Given the description of an element on the screen output the (x, y) to click on. 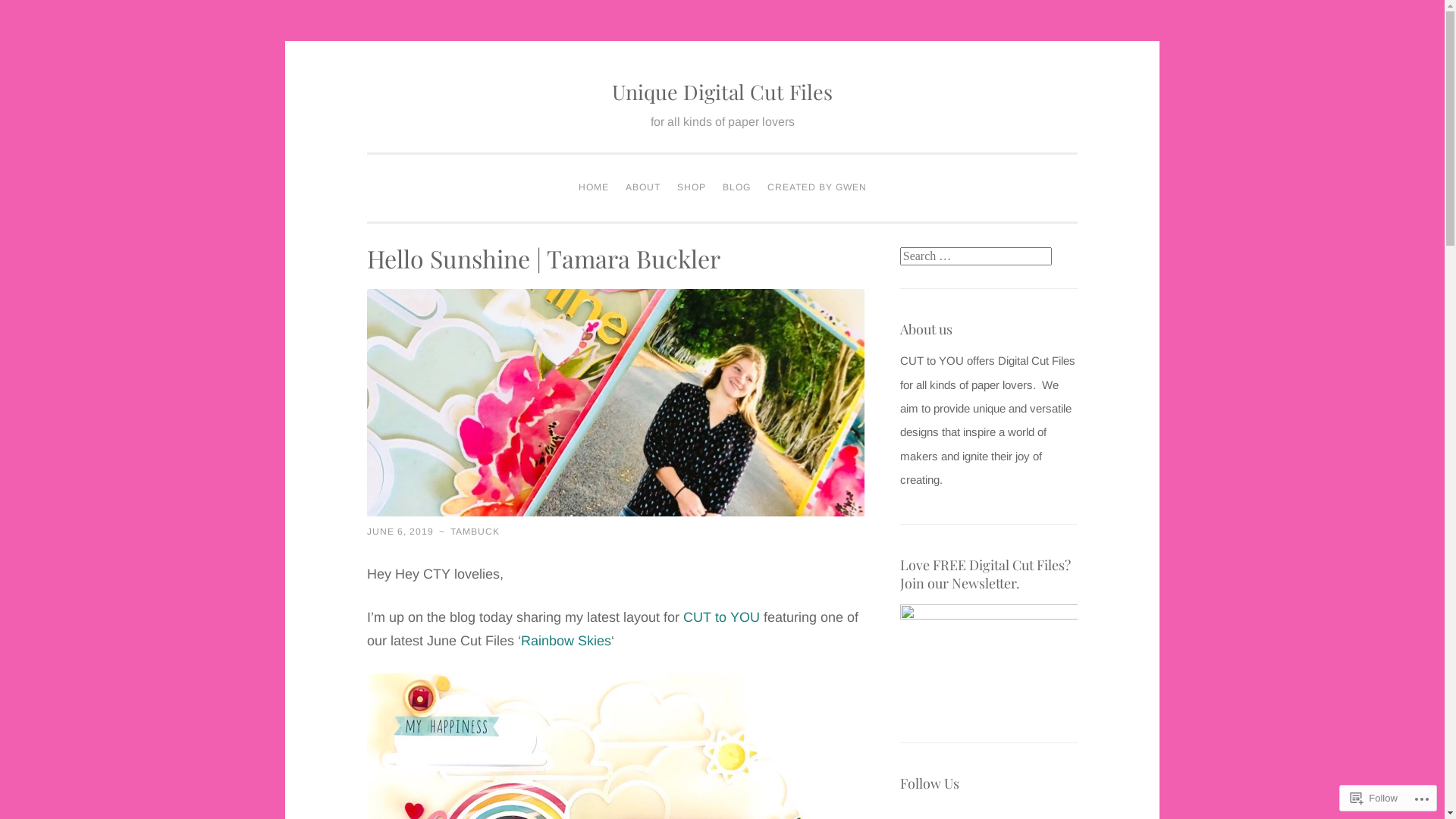
CUT to YOU Element type: text (721, 616)
Follow Element type: text (1373, 797)
ABOUT Element type: text (642, 187)
HOME Element type: text (593, 187)
Search Element type: text (25, 9)
CREATED BY GWEN Element type: text (815, 187)
TAMBUCK Element type: text (474, 531)
Rainbow Skies Element type: text (565, 640)
BLOG Element type: text (736, 187)
SHOP Element type: text (691, 187)
Unique Digital Cut Files Element type: text (721, 91)
JUNE 6, 2019 Element type: text (400, 531)
